Given the description of an element on the screen output the (x, y) to click on. 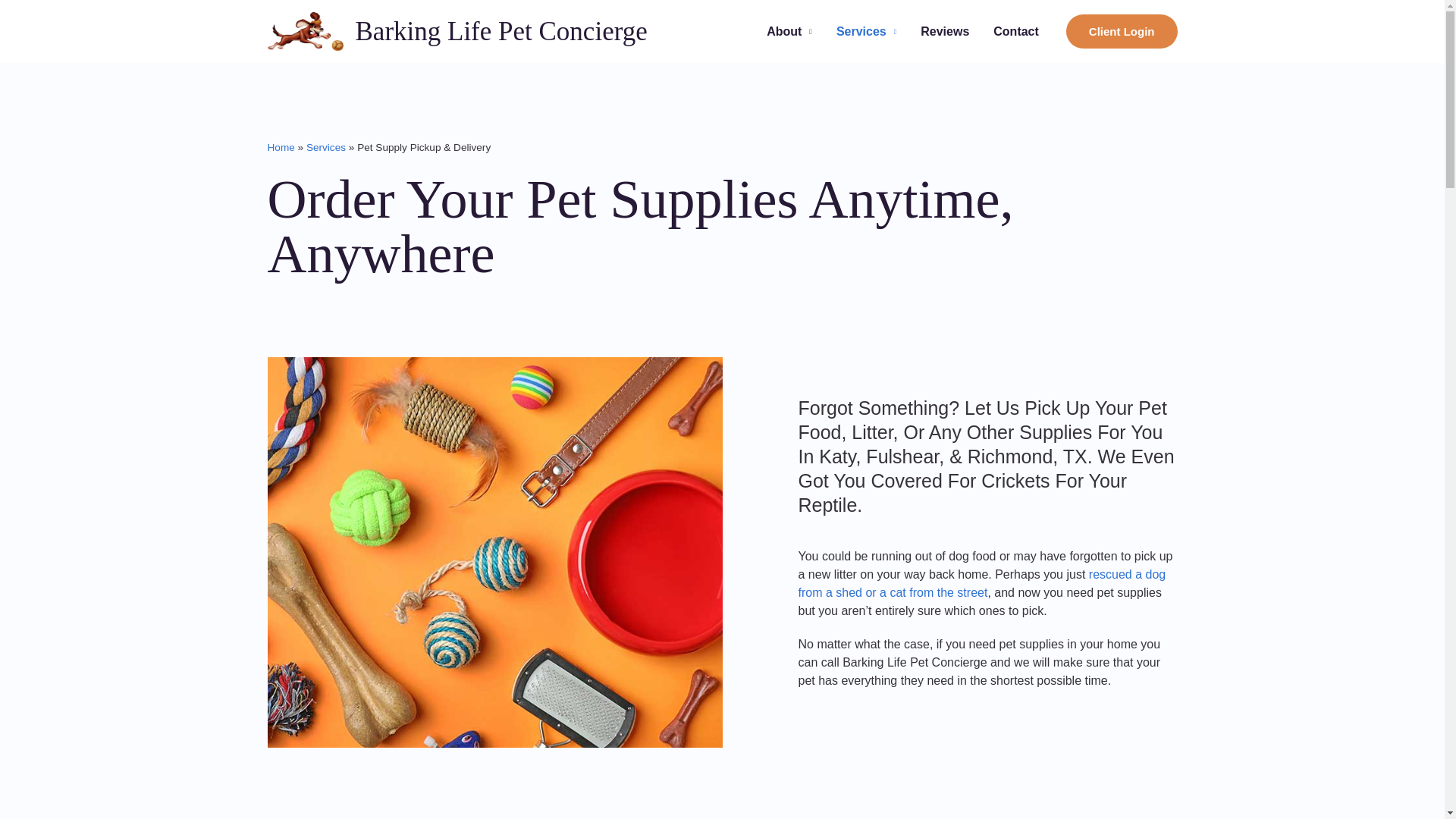
Services (866, 31)
Client Login (1121, 31)
About (789, 31)
Contact (1016, 31)
Reviews (944, 31)
Barking Life Pet Concierge (500, 30)
